Given the description of an element on the screen output the (x, y) to click on. 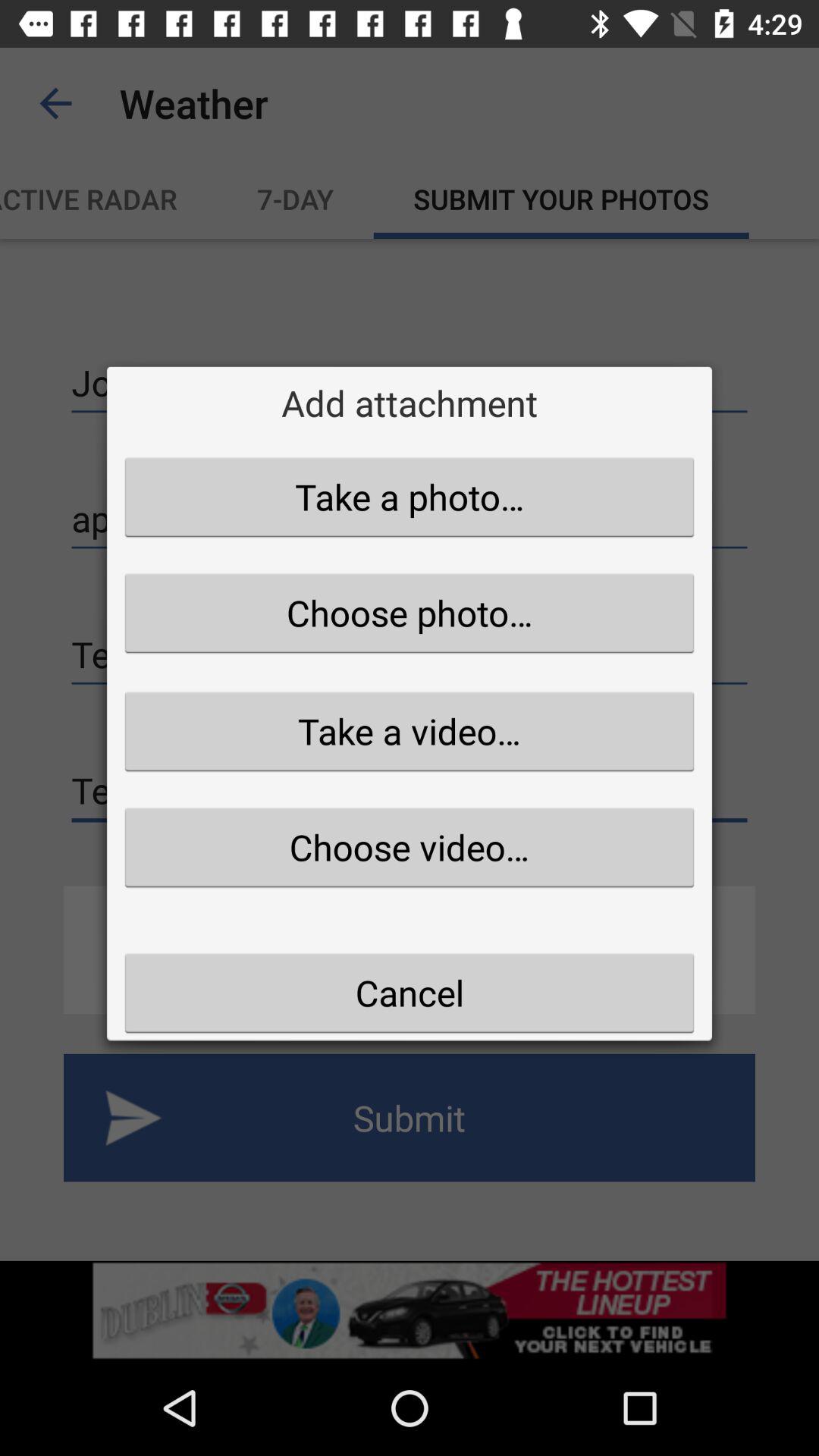
scroll until the cancel (409, 992)
